Given the description of an element on the screen output the (x, y) to click on. 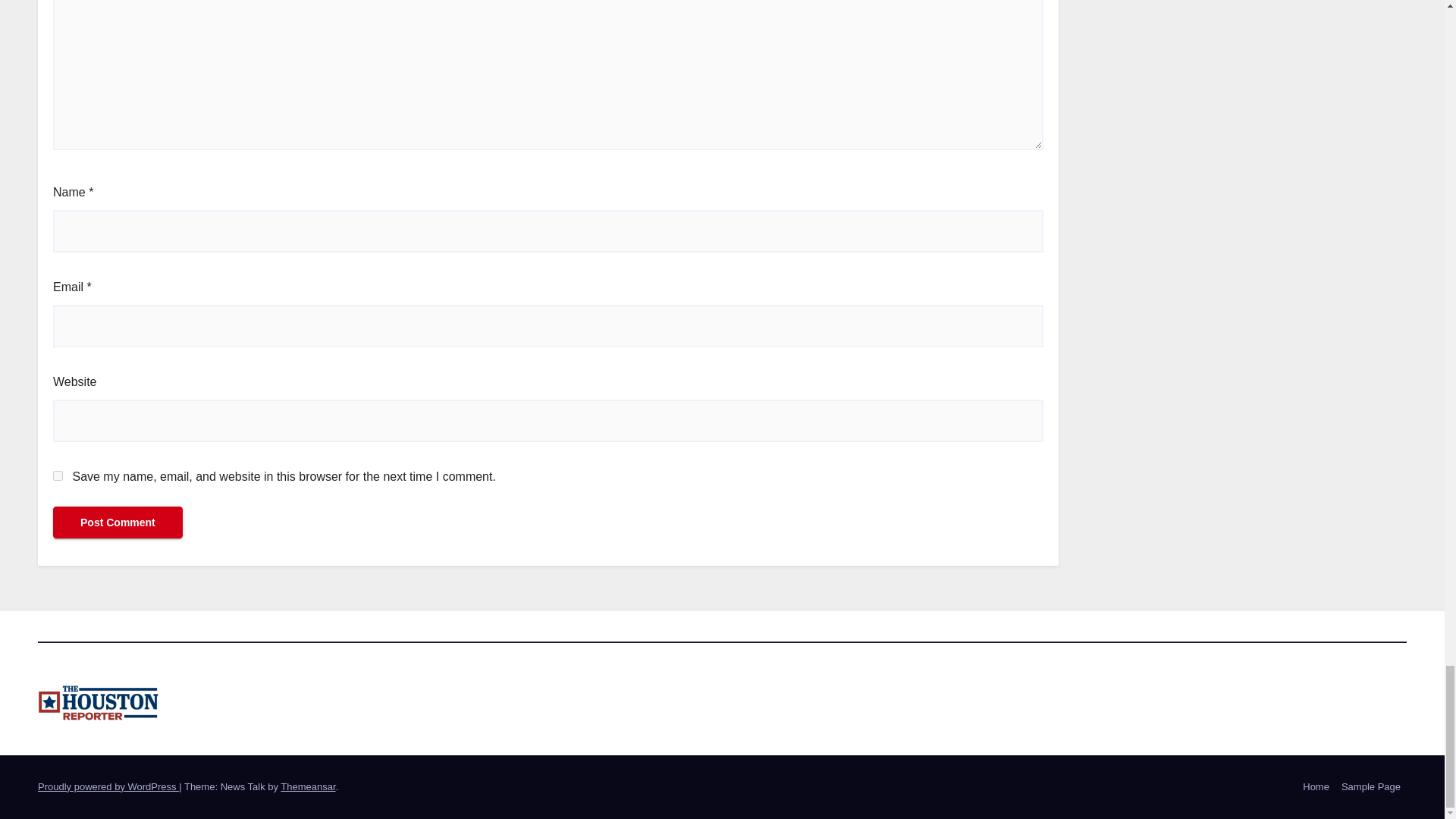
Post Comment (117, 522)
yes (57, 475)
Post Comment (117, 522)
Home (1316, 786)
